Given the description of an element on the screen output the (x, y) to click on. 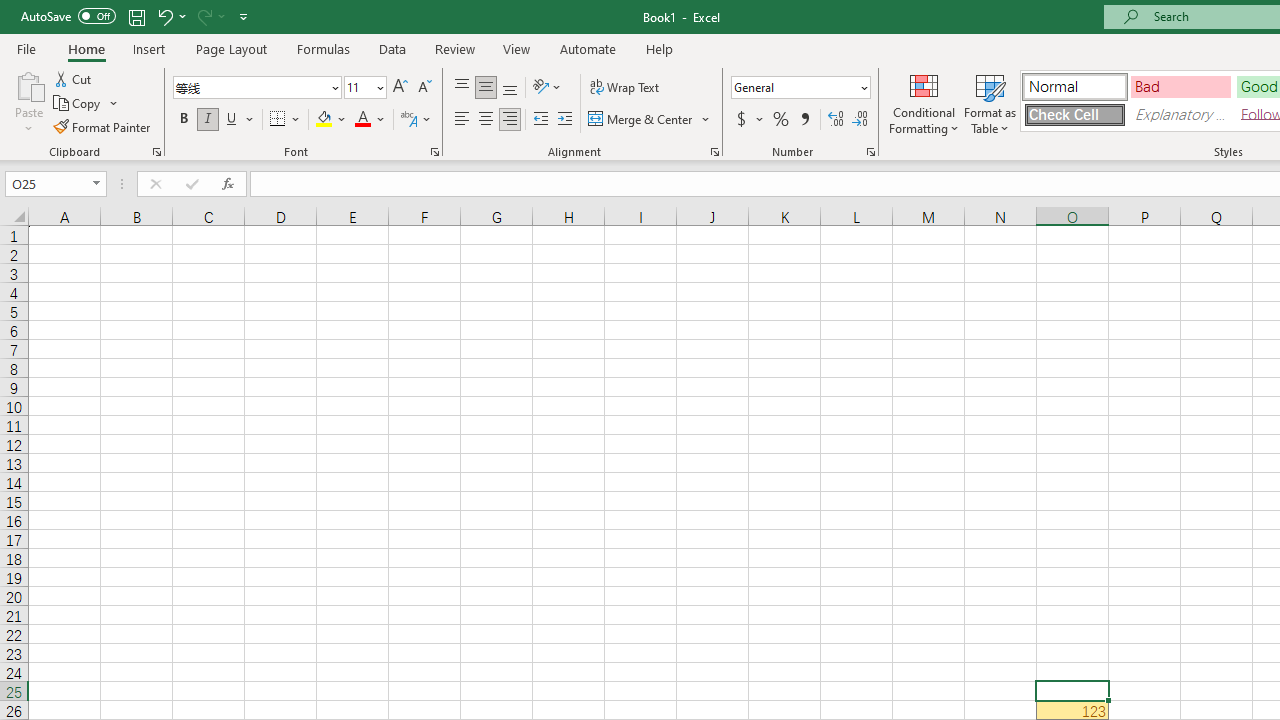
Font Color (370, 119)
Align Left (461, 119)
